Given the description of an element on the screen output the (x, y) to click on. 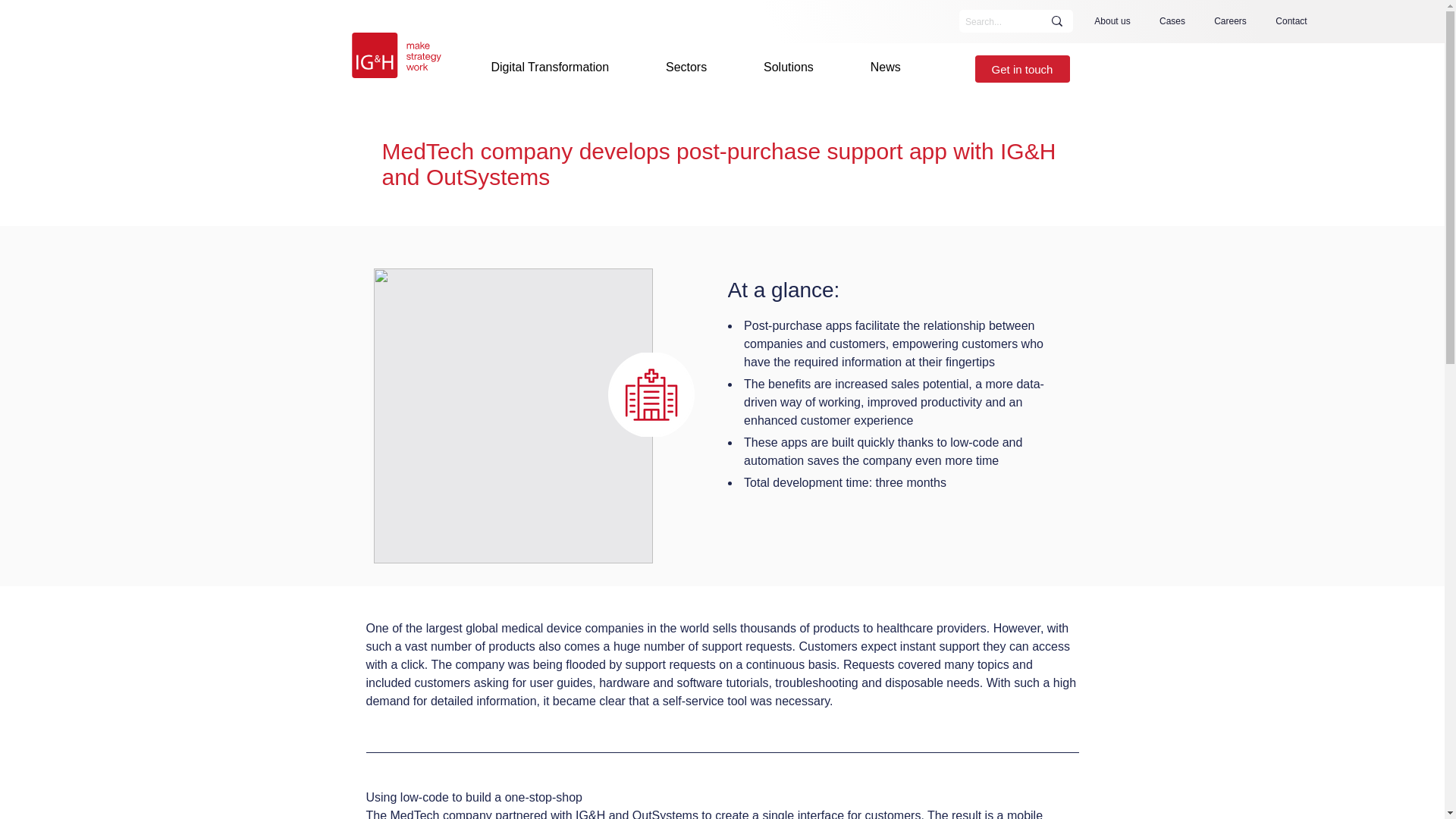
About us (1112, 21)
Contact (1291, 21)
Cases (1171, 21)
Careers (1229, 21)
